Given the description of an element on the screen output the (x, y) to click on. 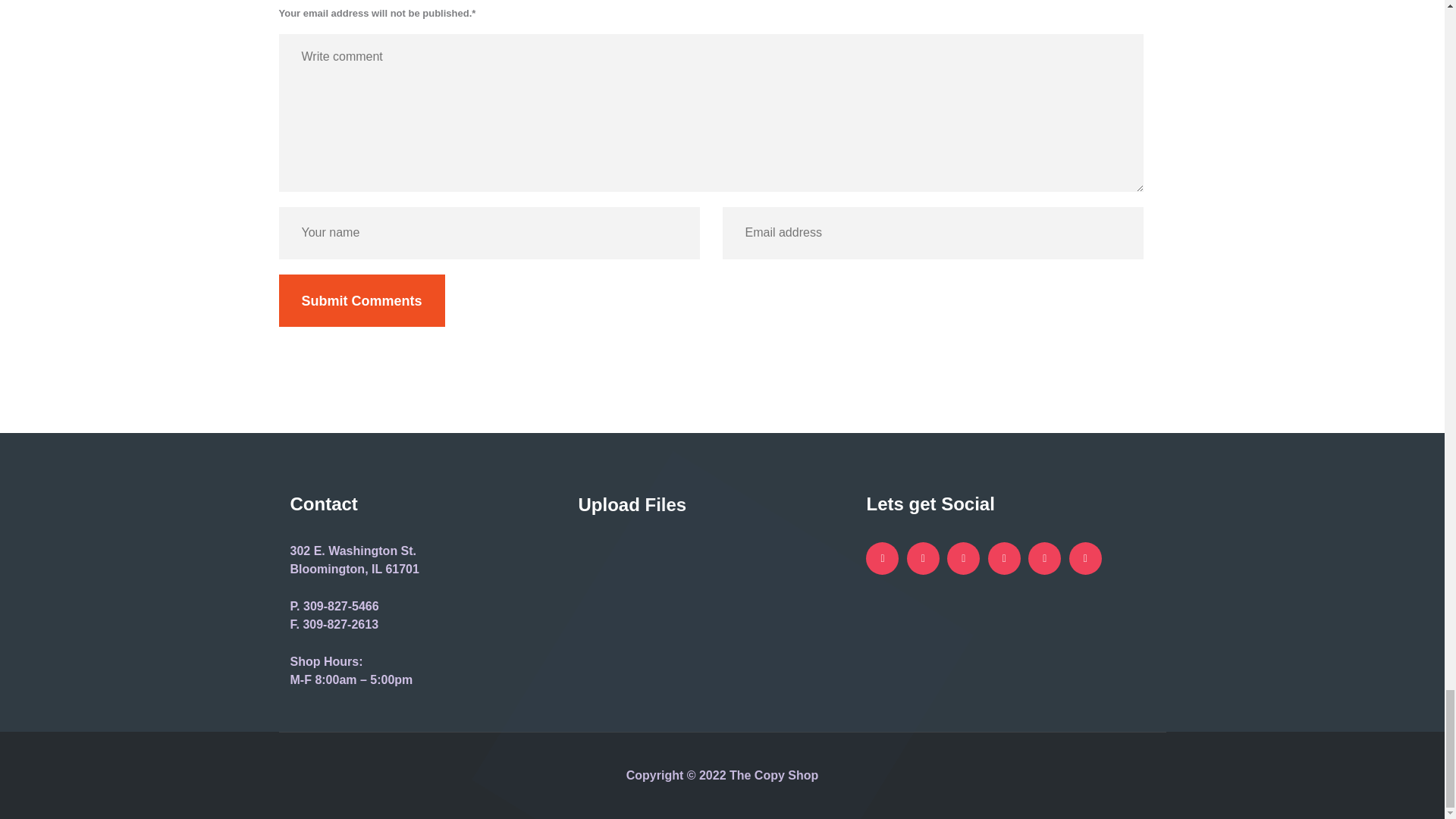
Submit Comments (362, 300)
